Given the description of an element on the screen output the (x, y) to click on. 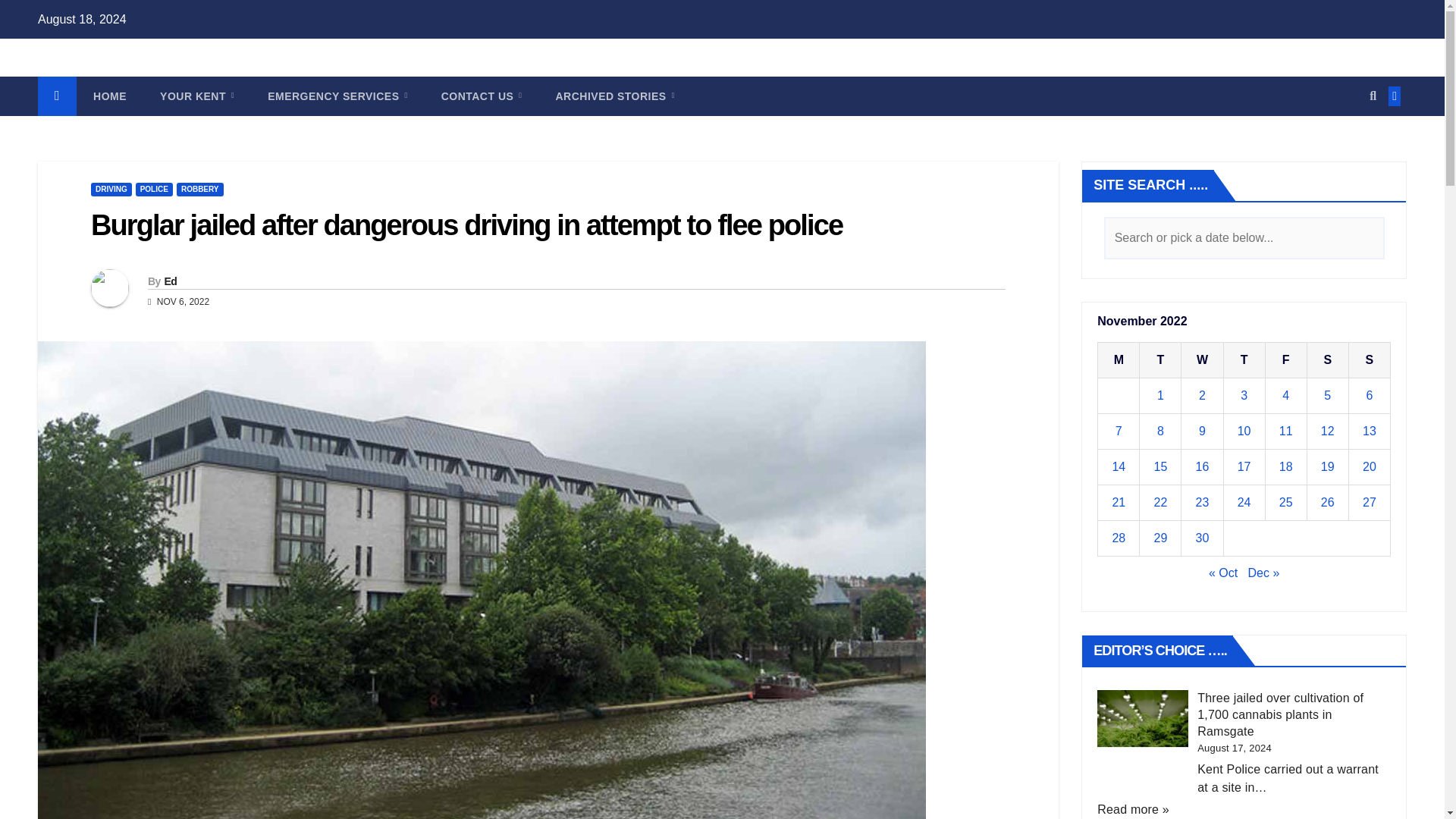
YOUR KENT (196, 96)
HOME (109, 96)
YOUR KENT (196, 96)
HOME (109, 96)
